Given the description of an element on the screen output the (x, y) to click on. 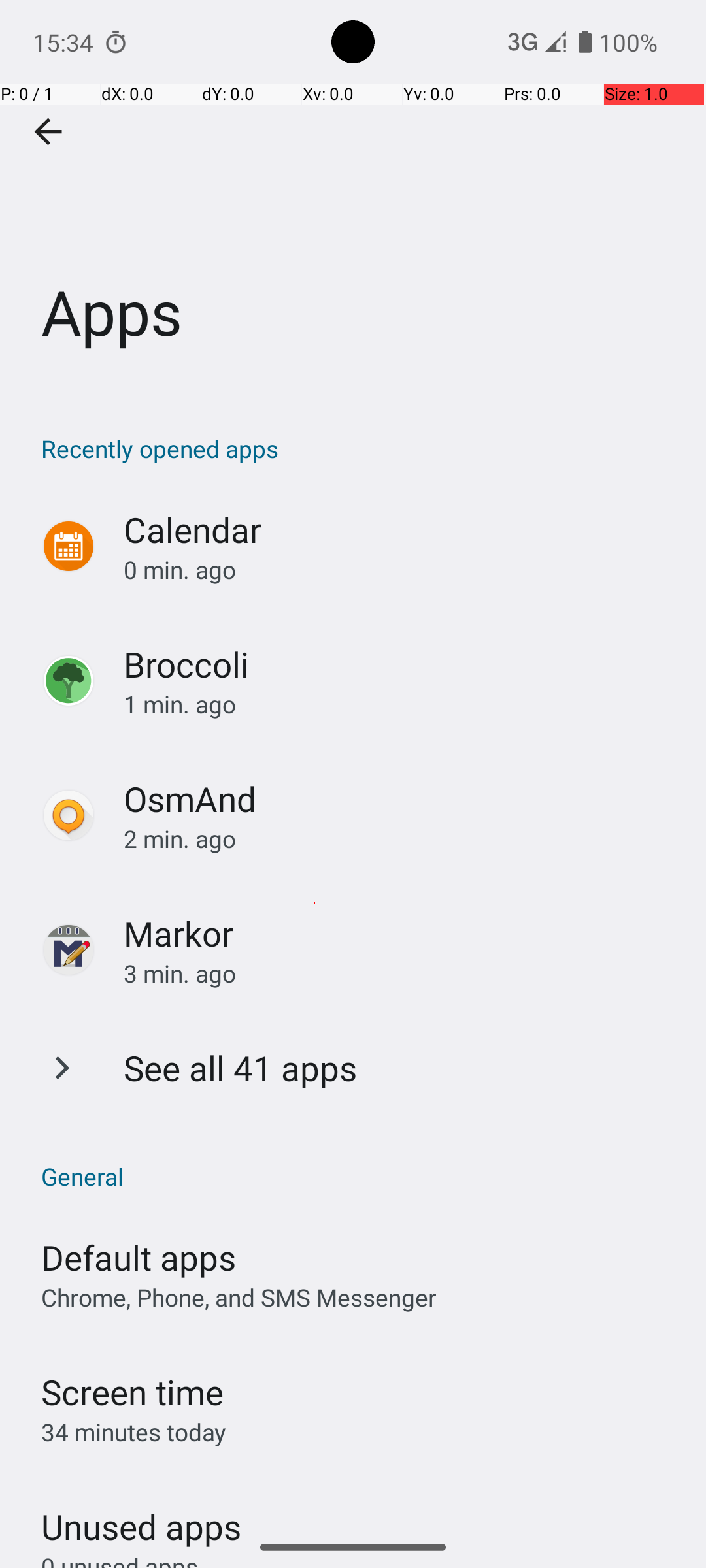
Apps Element type: android.widget.FrameLayout (353, 195)
Recently opened apps Element type: android.widget.TextView (359, 448)
0 min. ago Element type: android.widget.TextView (400, 569)
1 min. ago Element type: android.widget.TextView (400, 703)
OsmAnd Element type: android.widget.TextView (189, 798)
2 min. ago Element type: android.widget.TextView (400, 838)
3 min. ago Element type: android.widget.TextView (400, 972)
See all 41 apps Element type: android.widget.TextView (239, 1067)
Default apps Element type: android.widget.TextView (138, 1257)
Chrome, Phone, and SMS Messenger Element type: android.widget.TextView (238, 1296)
Screen time Element type: android.widget.TextView (132, 1391)
34 minutes today Element type: android.widget.TextView (133, 1431)
Unused apps Element type: android.widget.TextView (141, 1514)
